Given the description of an element on the screen output the (x, y) to click on. 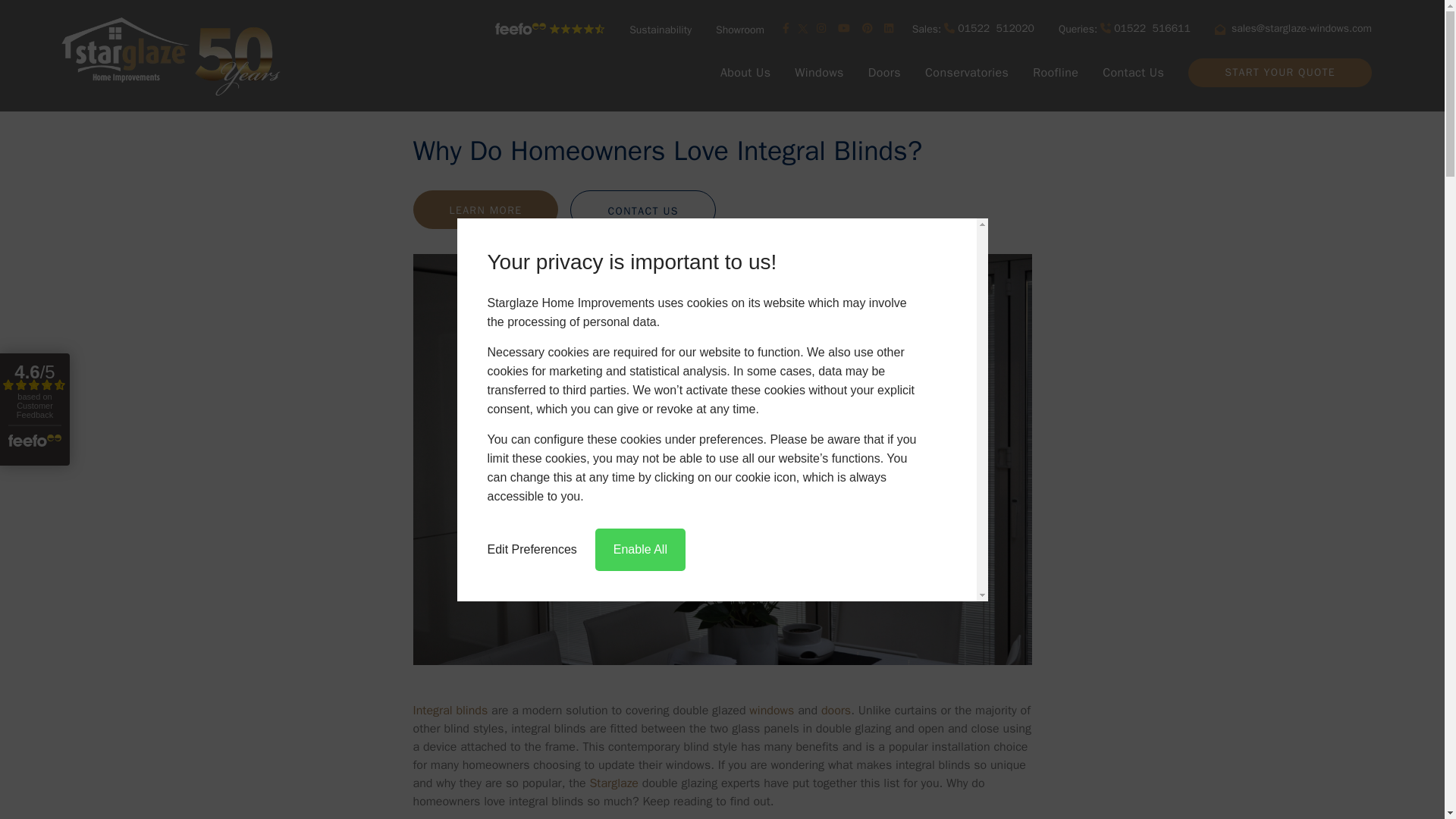
Edit Preferences (531, 548)
Enable All (640, 548)
About Us (745, 72)
Sustainability (660, 28)
Showroom (739, 28)
Windows (972, 29)
